Given the description of an element on the screen output the (x, y) to click on. 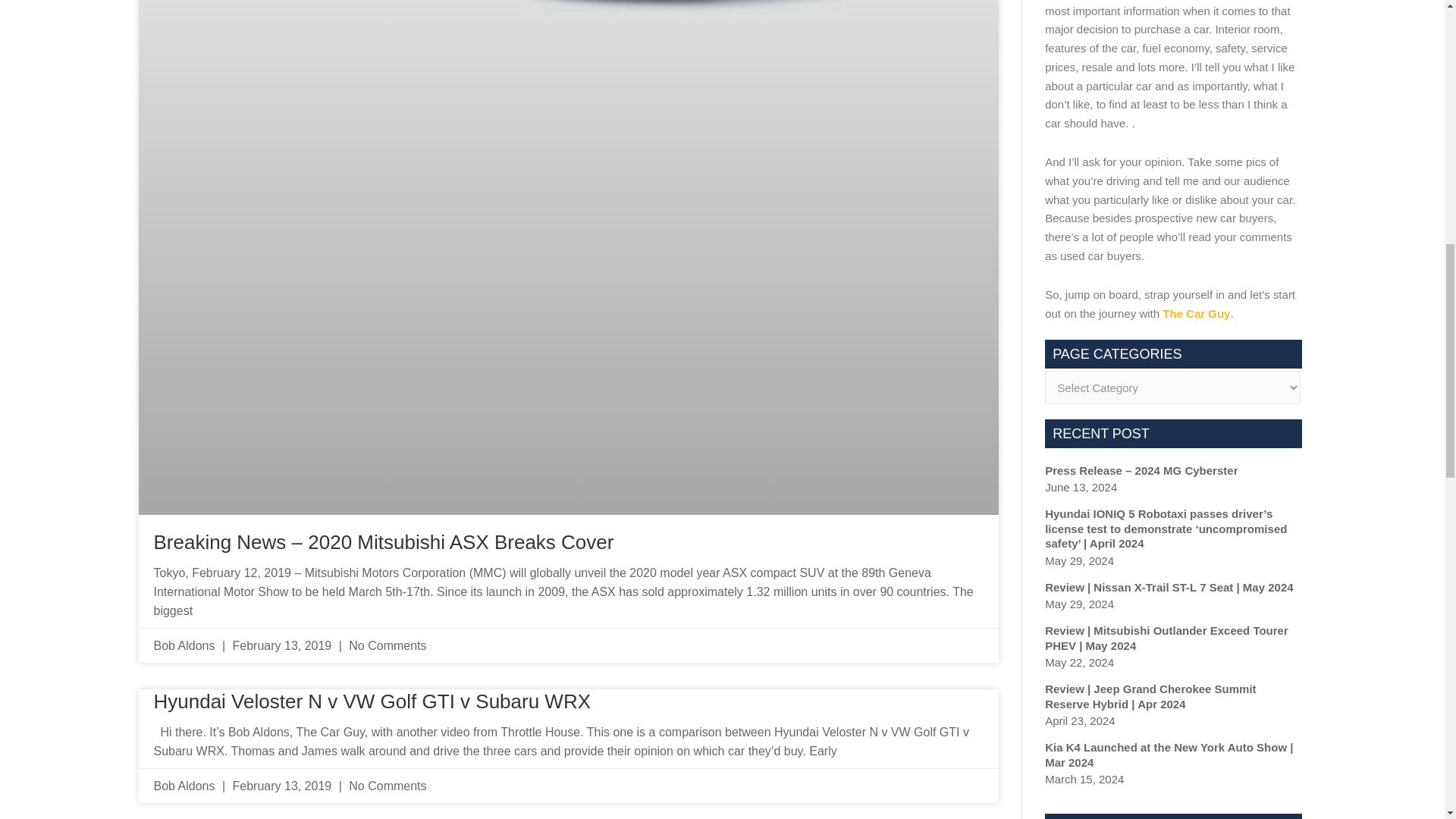
Hyundai Veloster N v VW Golf GTI v Subaru WRX (371, 701)
The Car Guy (1195, 312)
